Given the description of an element on the screen output the (x, y) to click on. 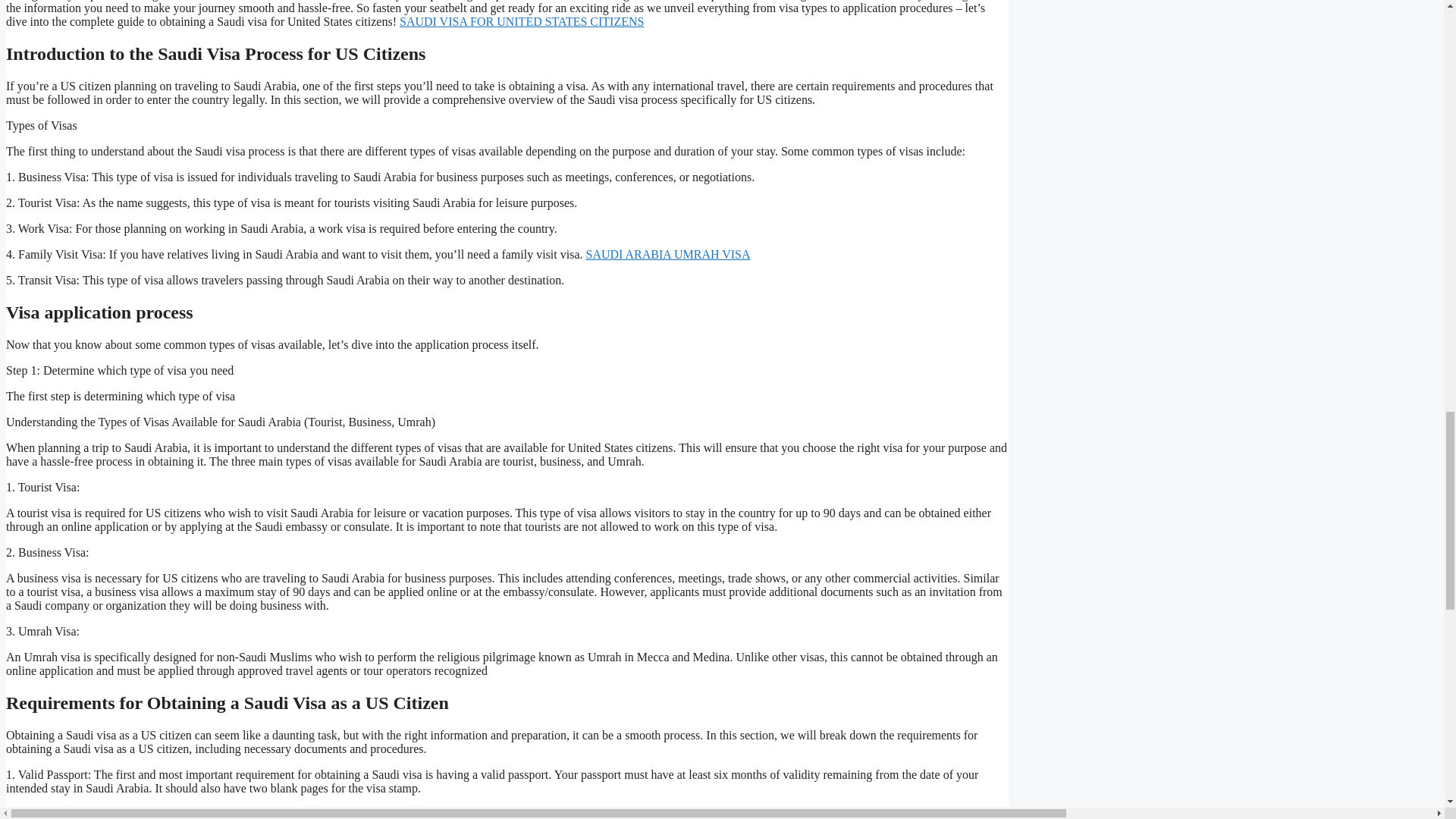
SAUDI ARABIA UMRAH VISA (667, 254)
SAUDI VISA FOR UNITED STATES CITIZENS (520, 21)
